Given the description of an element on the screen output the (x, y) to click on. 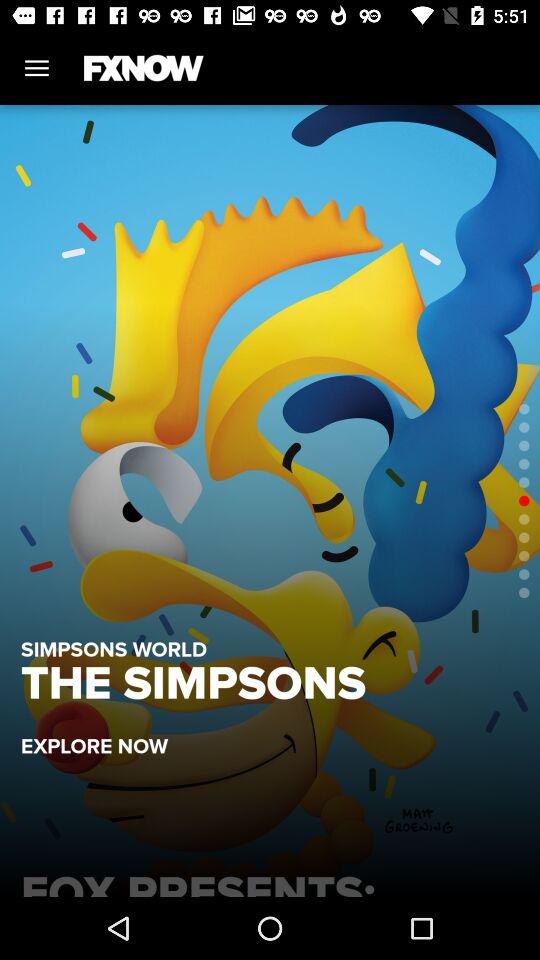
scroll until the fox presents: pitch item (270, 880)
